Given the description of an element on the screen output the (x, y) to click on. 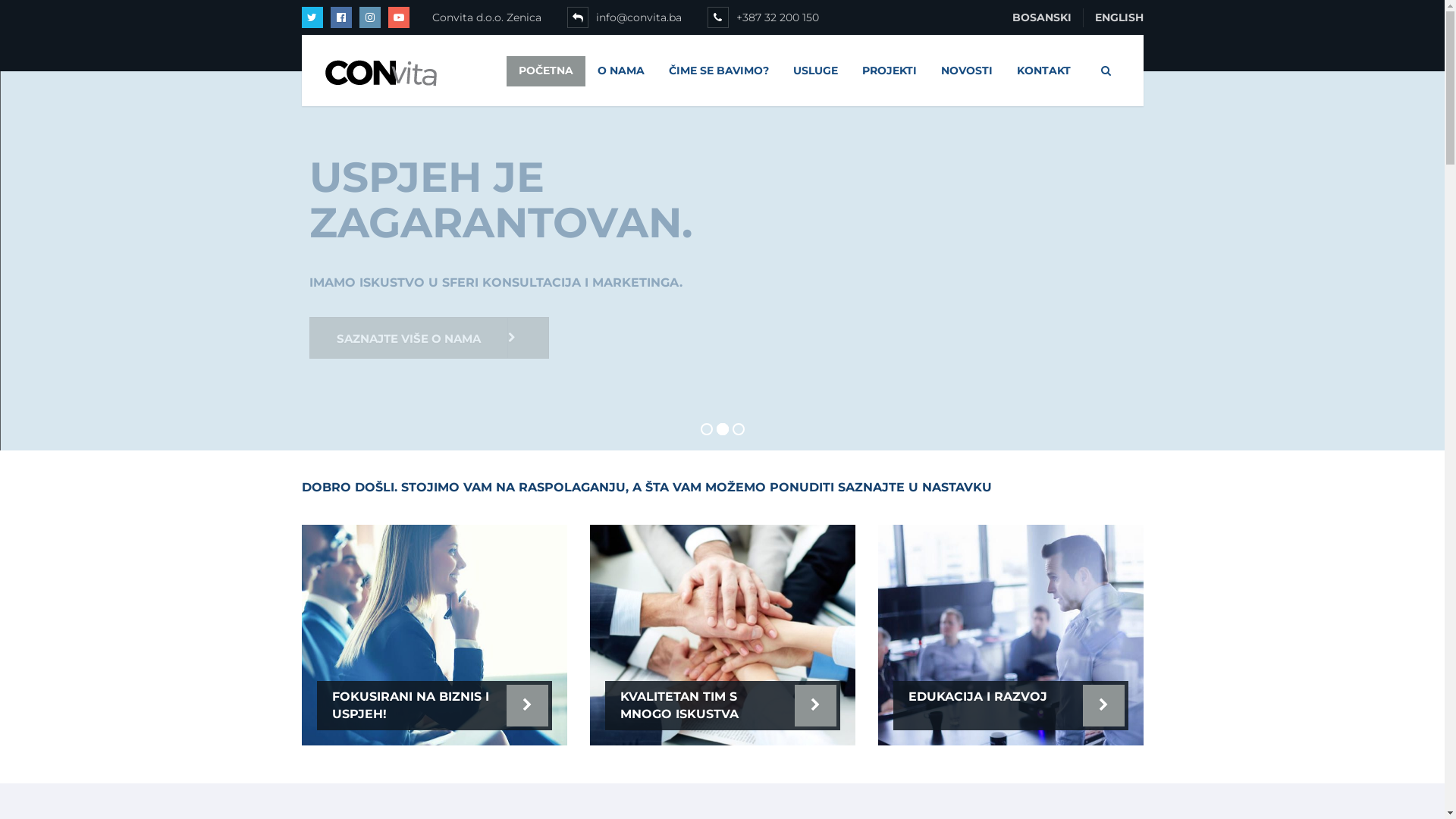
O NAMA Element type: text (620, 71)
quality team photo Element type: hover (722, 635)
Pretraga Element type: text (1101, 71)
ENGLISH Element type: text (1112, 17)
EDUKACIJA I RAZVOJ Element type: text (977, 696)
KVALITETAN TIM S MNOGO ISKUSTVA Element type: text (679, 704)
KONTAKT Element type: text (1043, 71)
1 Element type: hover (434, 635)
BOSANSKI Element type: text (1042, 17)
3 Element type: hover (1010, 635)
USLUGE Element type: text (815, 71)
NOVOSTI Element type: text (966, 71)
FOKUSIRANI NA BIZNIS I USPJEH! Element type: text (410, 704)
PROJEKTI Element type: text (888, 71)
